Given the description of an element on the screen output the (x, y) to click on. 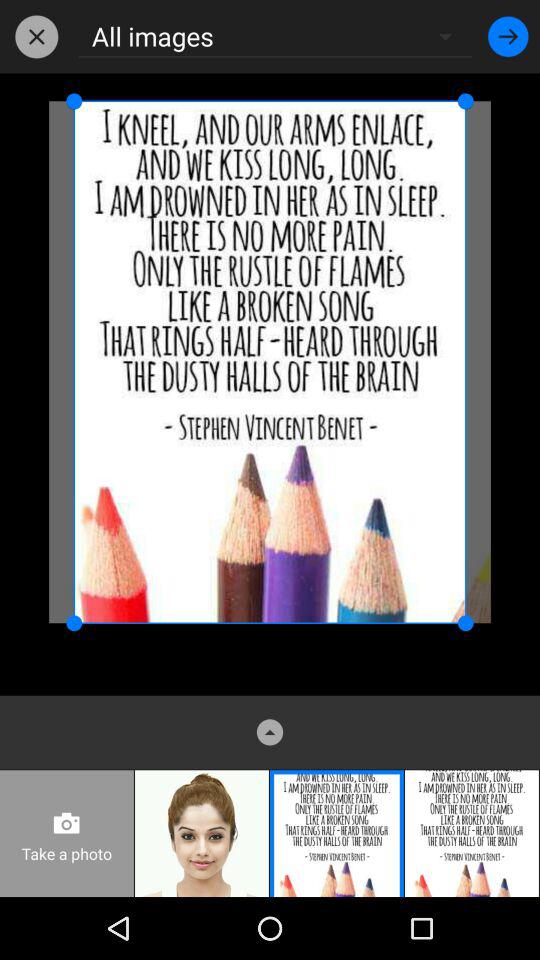
choose icon to the left of all images (36, 36)
